Given the description of an element on the screen output the (x, y) to click on. 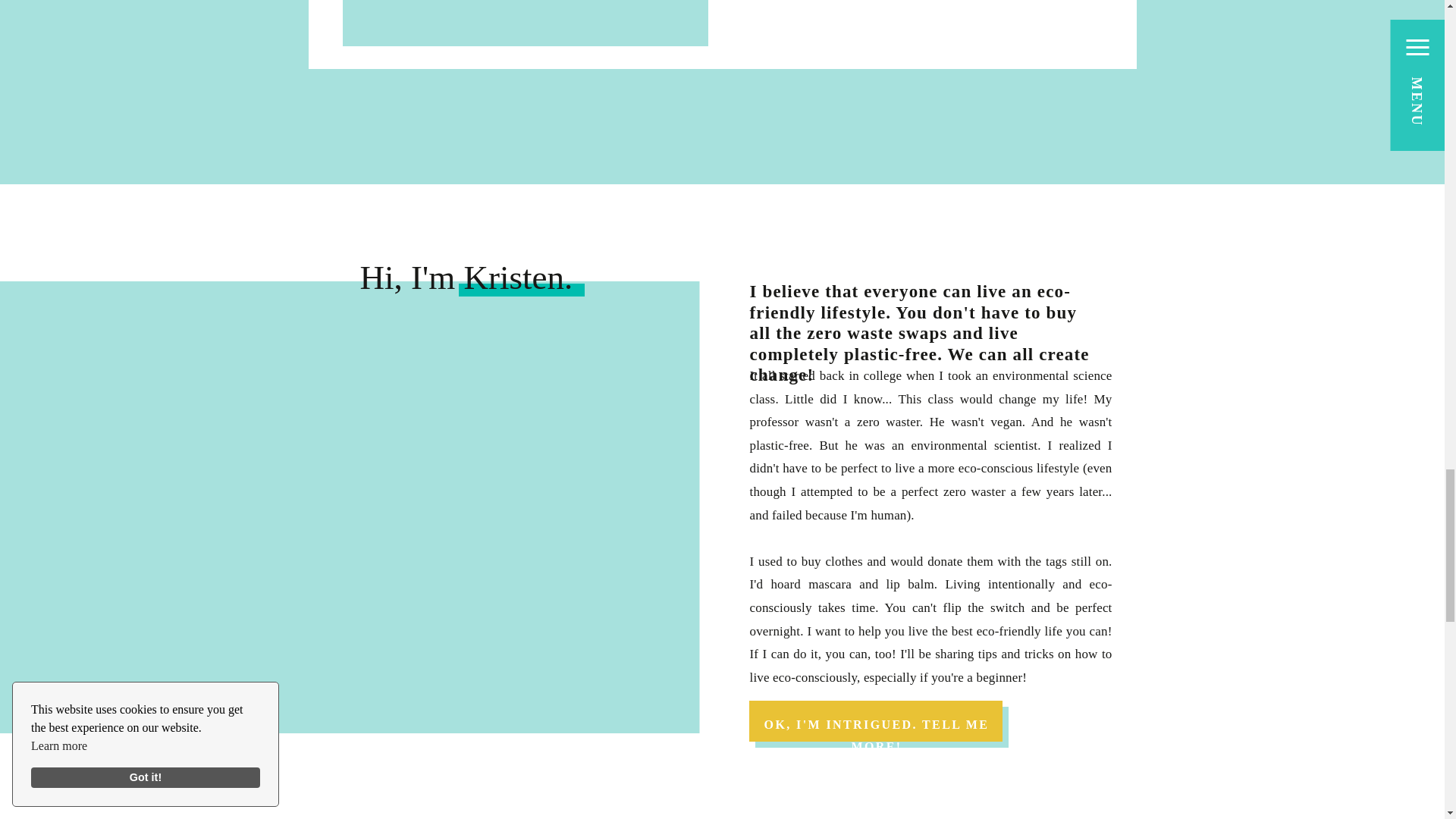
OK, I'M INTRIGUED. TELL ME MORE! (877, 721)
